Given the description of an element on the screen output the (x, y) to click on. 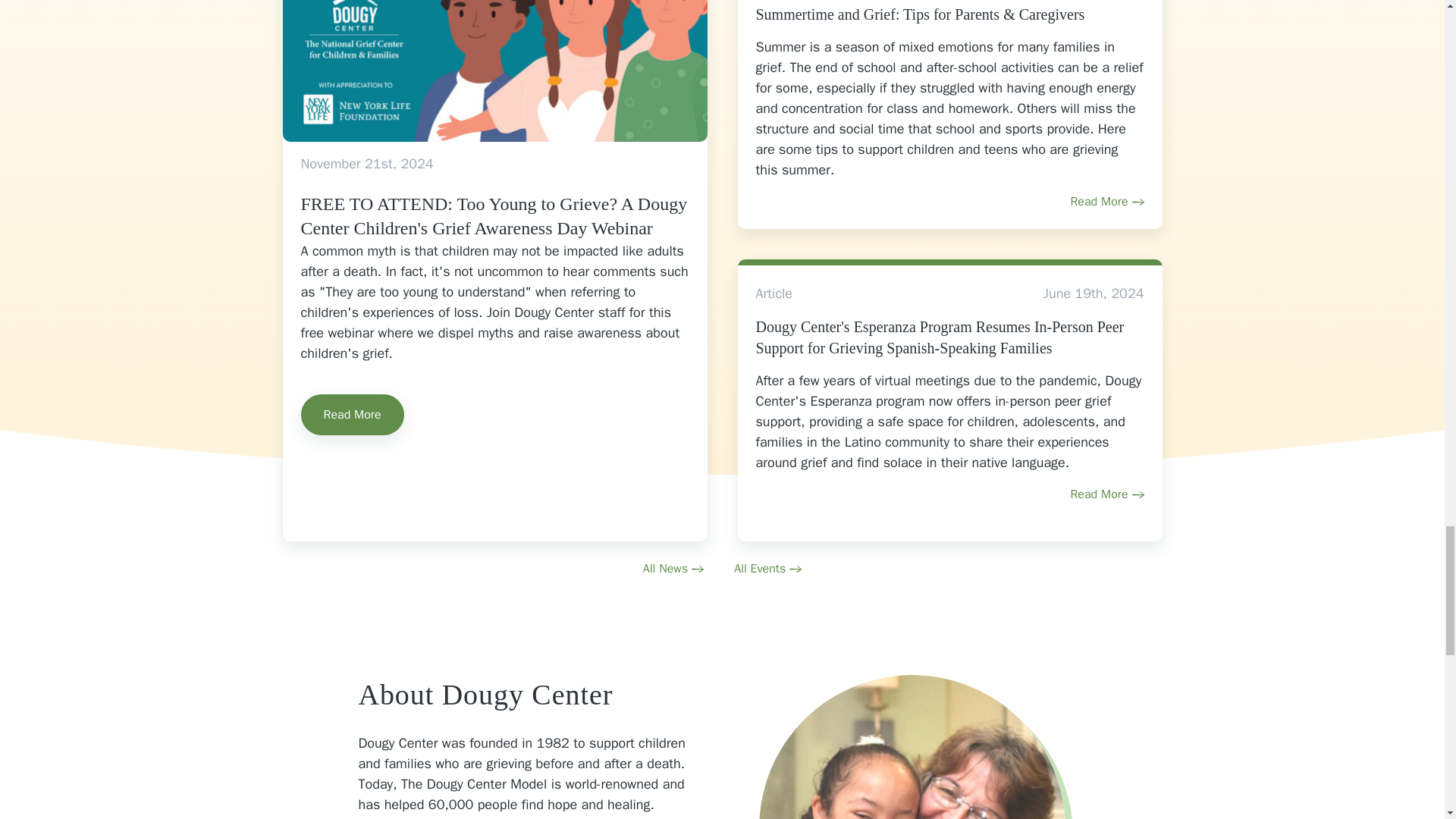
Photo hp 50 circle about the dougy center (911, 746)
Webinar Slides Nov 24 paperform (494, 70)
